Given the description of an element on the screen output the (x, y) to click on. 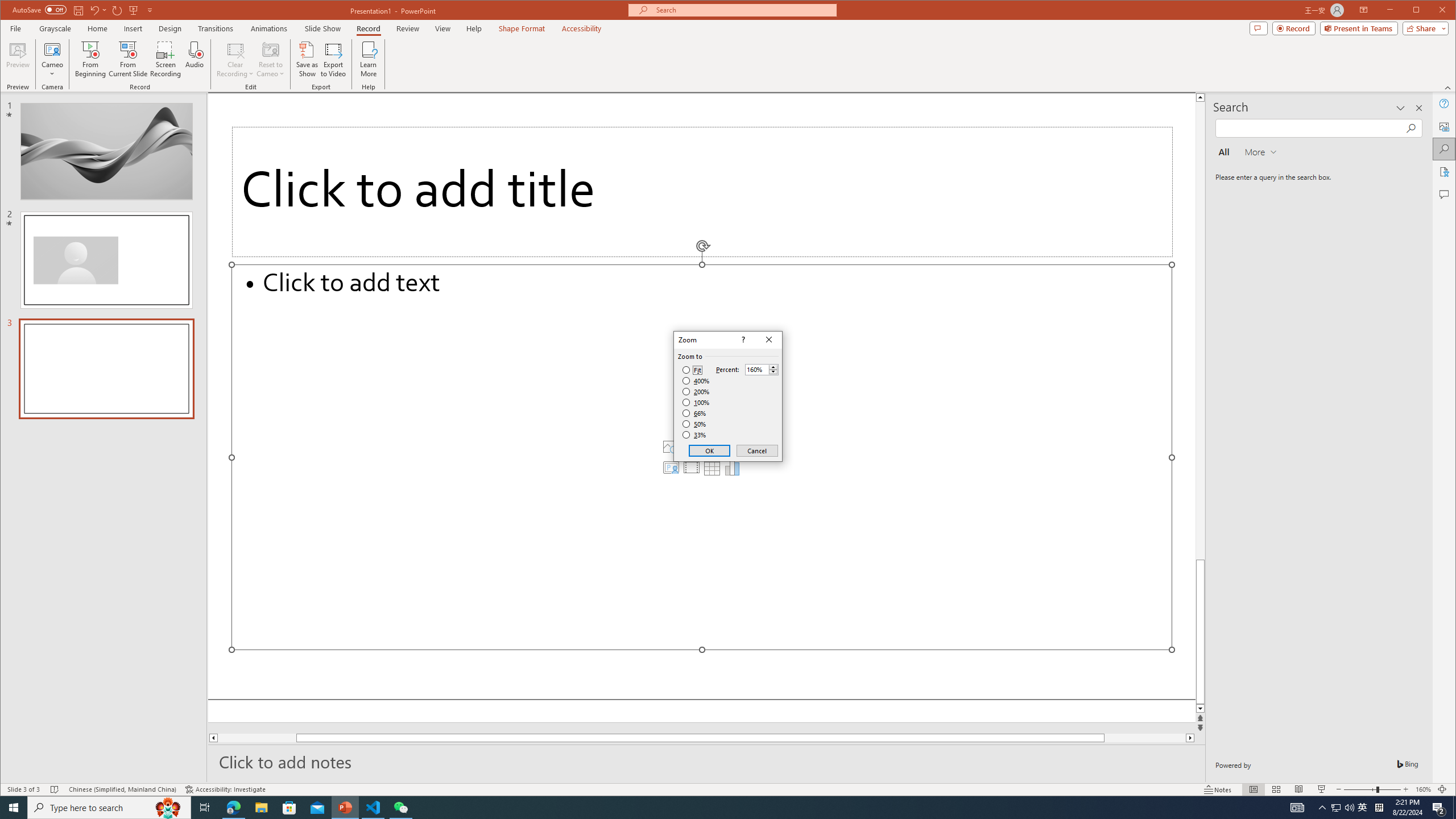
Title TextBox (701, 191)
33% (694, 434)
Export to Video (333, 59)
Audio (194, 59)
OK (709, 450)
Maximize (1432, 11)
